Given the description of an element on the screen output the (x, y) to click on. 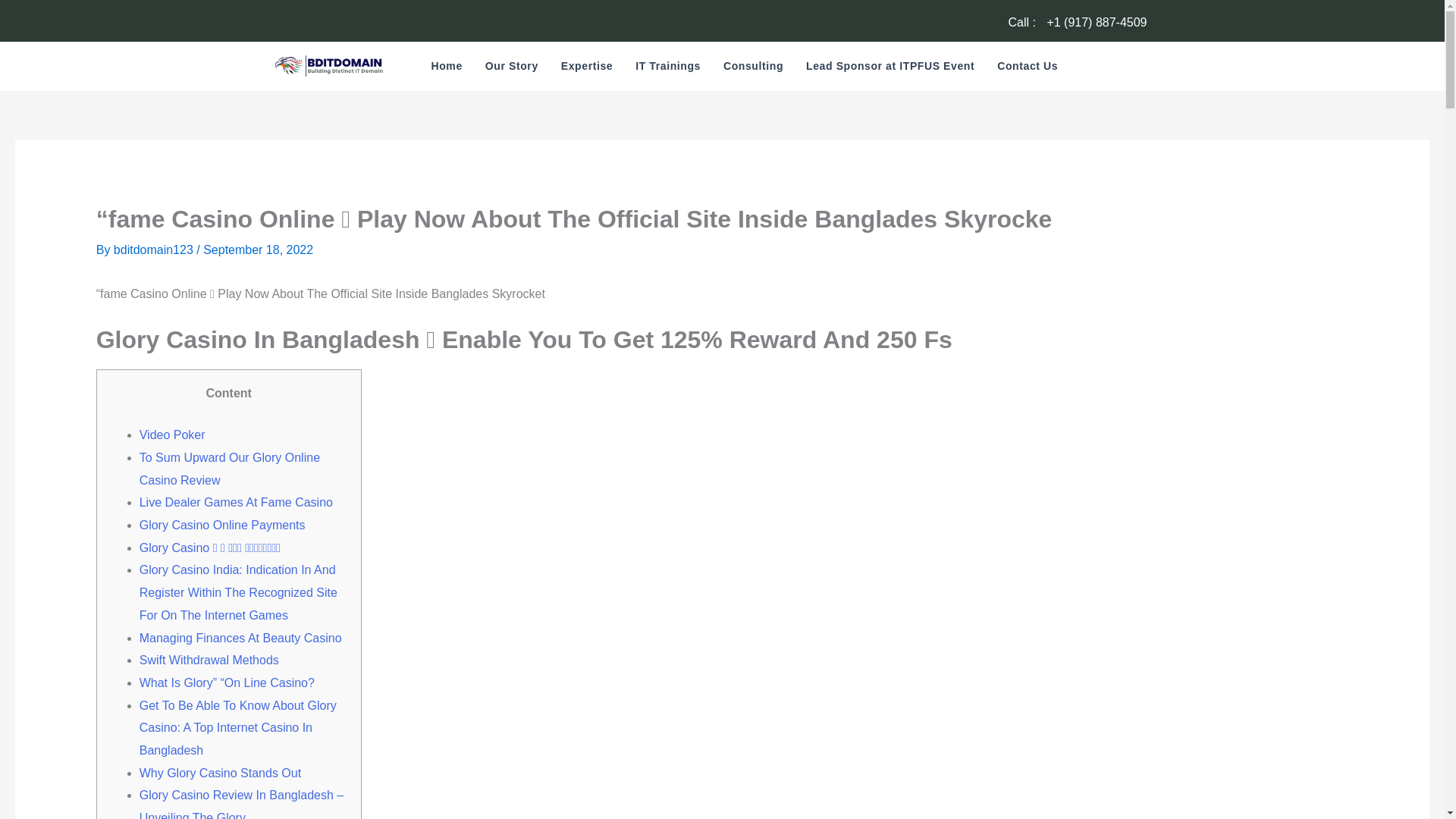
Glory Casino Online Payments (222, 524)
Live Dealer Games At Fame Casino (236, 502)
bditdomain123 (154, 249)
Video Poker (172, 434)
Why Glory Casino Stands Out (220, 772)
Contact Us (1026, 65)
Our Story (512, 65)
Call : (1023, 21)
Consulting (752, 65)
Expertise (587, 65)
Swift Withdrawal Methods (209, 659)
Home (447, 65)
IT Trainings (667, 65)
